Given the description of an element on the screen output the (x, y) to click on. 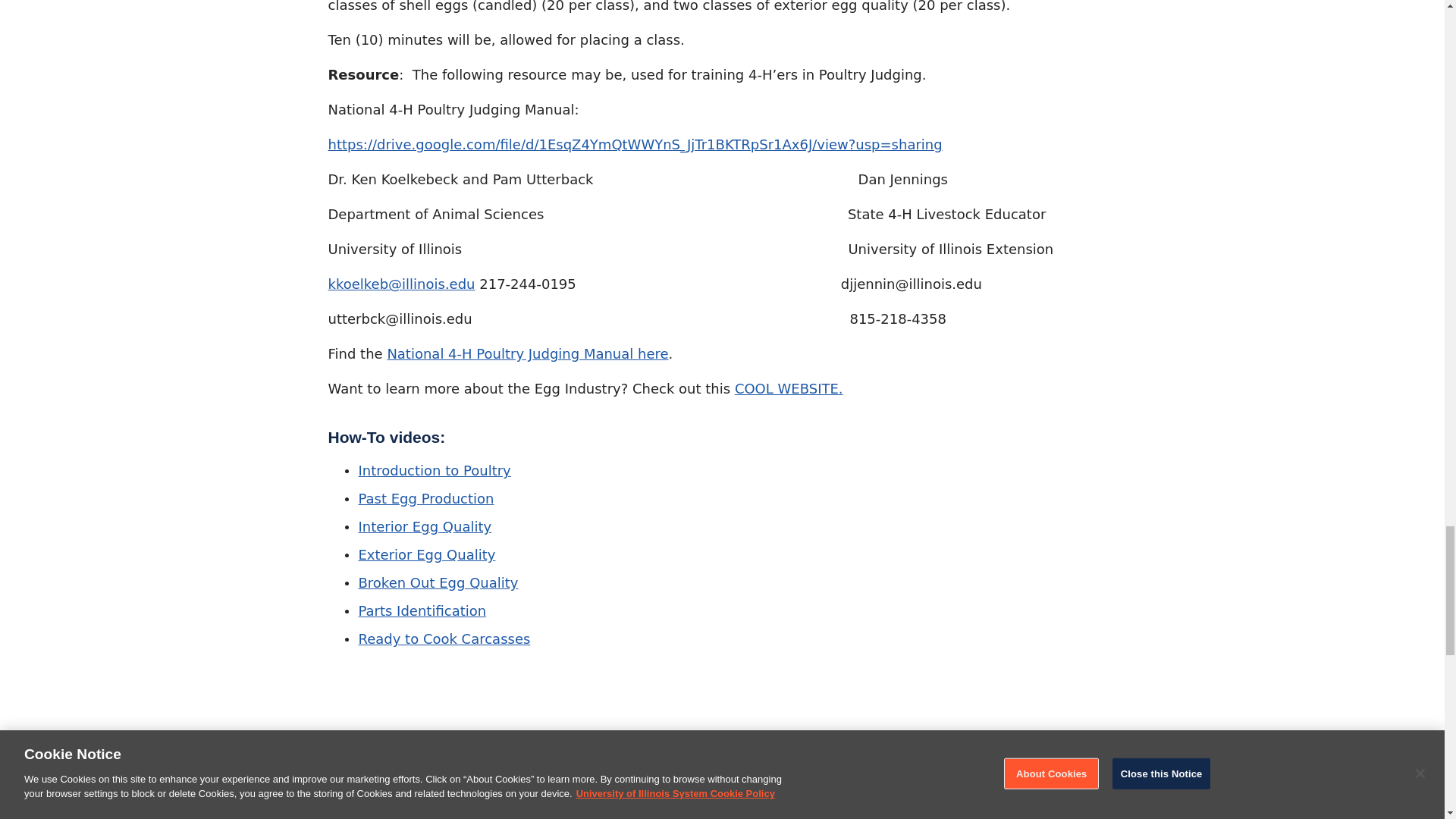
Ready to Cook Carcasses (443, 638)
Introduction to Poultry (434, 470)
Broken Out Egg Quality (438, 582)
U.S. Egg Industry (789, 388)
Past Egg Production (425, 498)
Exterior Egg Quality (426, 554)
Interior Egg Quality (425, 526)
Parts Identification (422, 610)
